Given the description of an element on the screen output the (x, y) to click on. 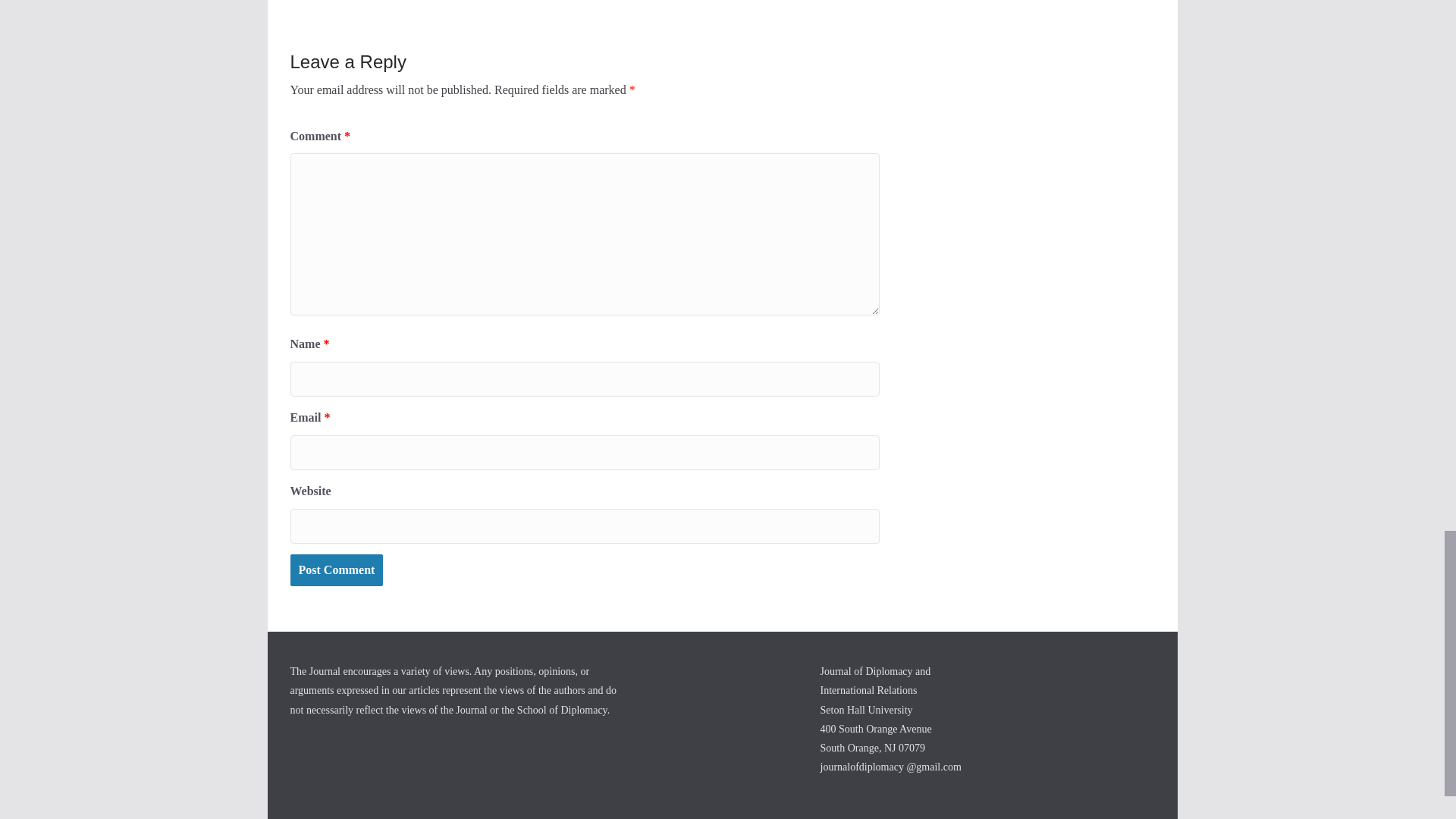
Post Comment (335, 569)
